Given the description of an element on the screen output the (x, y) to click on. 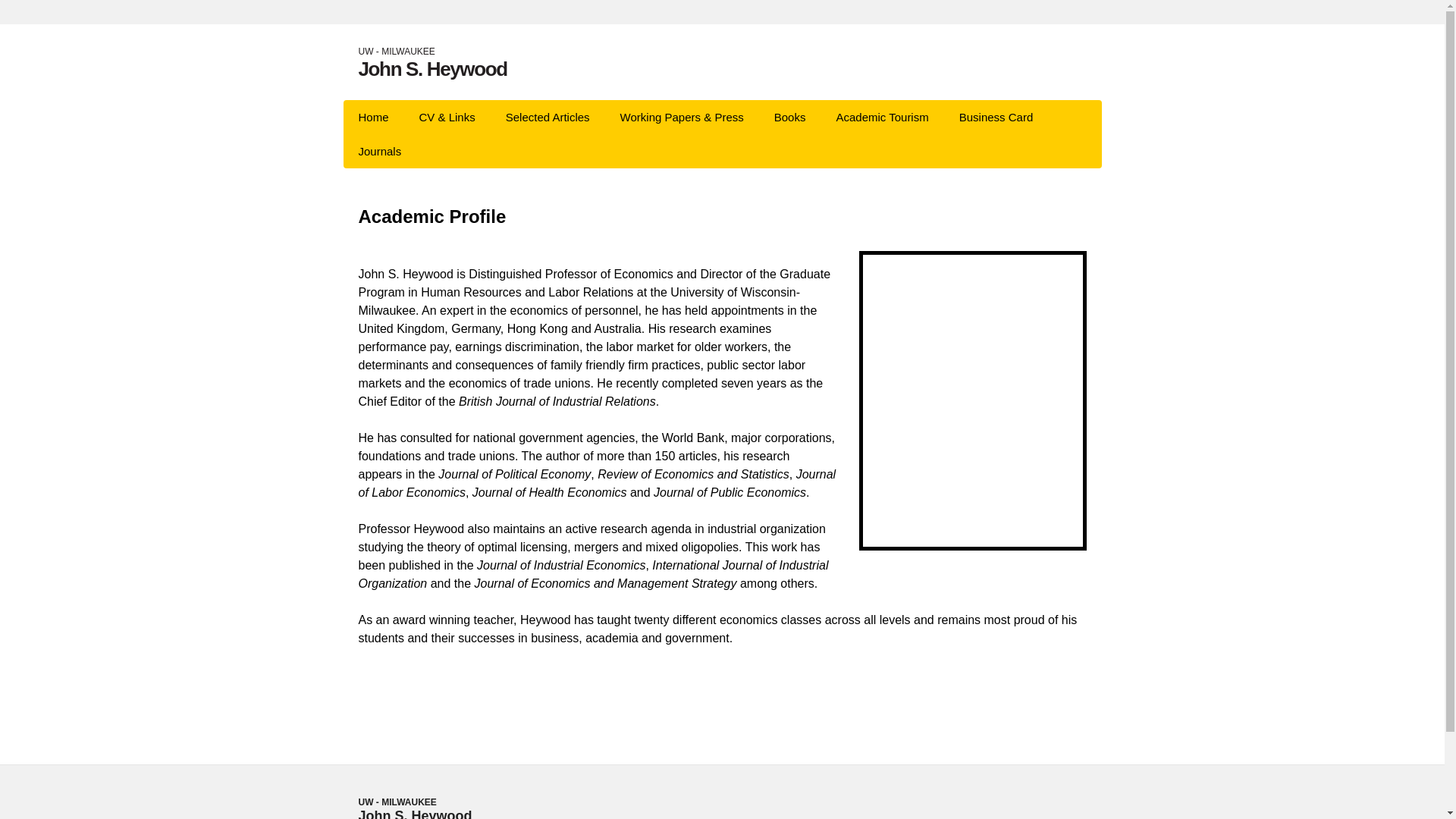
Selected Articles (432, 66)
Books (547, 116)
Skip to content (789, 116)
Business Card (432, 66)
Skip to content (995, 116)
Search (882, 116)
Home (1081, 116)
